Given the description of an element on the screen output the (x, y) to click on. 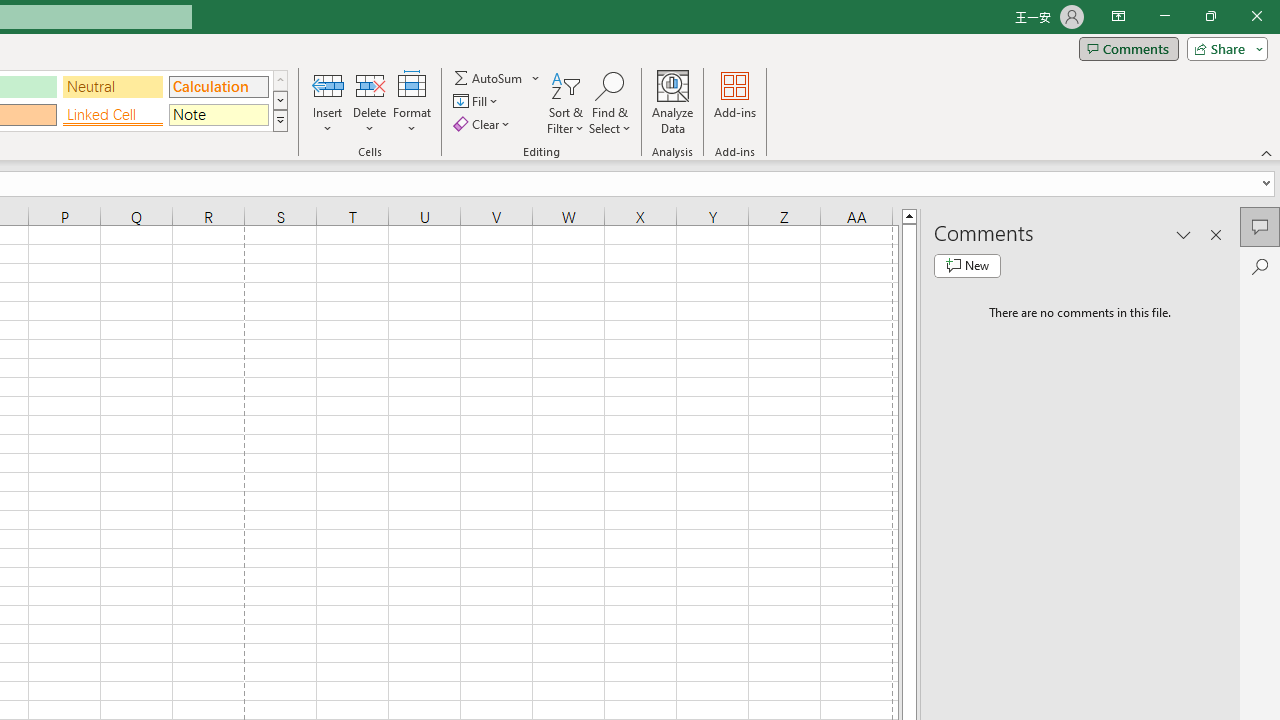
Neutral (113, 86)
Calculation (218, 86)
Linked Cell (113, 114)
Sort & Filter (566, 102)
New comment (967, 265)
